Given the description of an element on the screen output the (x, y) to click on. 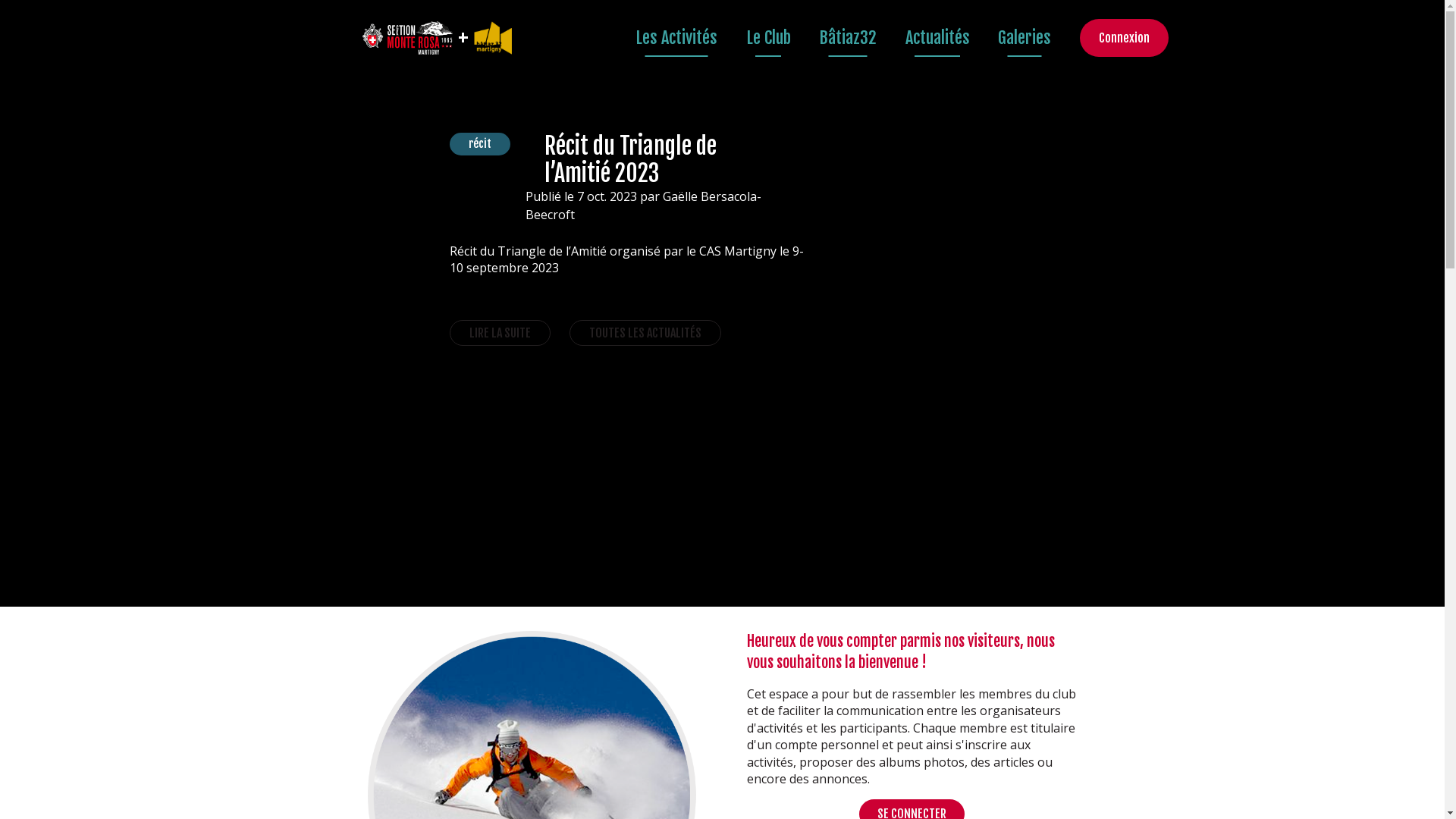
Le Club Element type: text (768, 37)
LIRE LA SUITE Element type: text (499, 332)
Club Alpin Suisse - Section Monte Rosa Martigny Element type: text (407, 37)
Galeries Element type: text (1024, 37)
Connexion Element type: text (1123, 37)
